Given the description of an element on the screen output the (x, y) to click on. 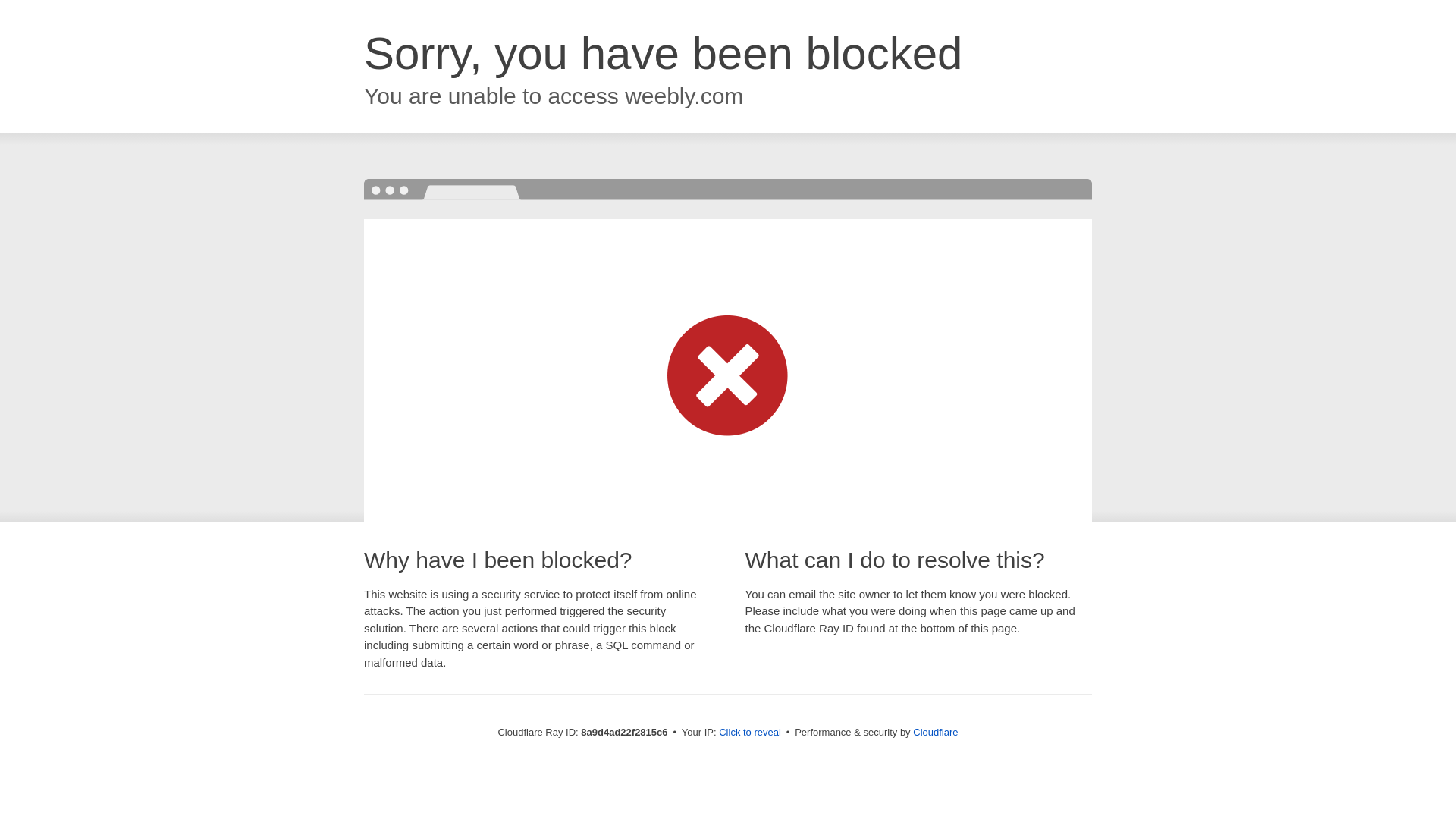
Cloudflare (935, 731)
Click to reveal (749, 732)
